Given the description of an element on the screen output the (x, y) to click on. 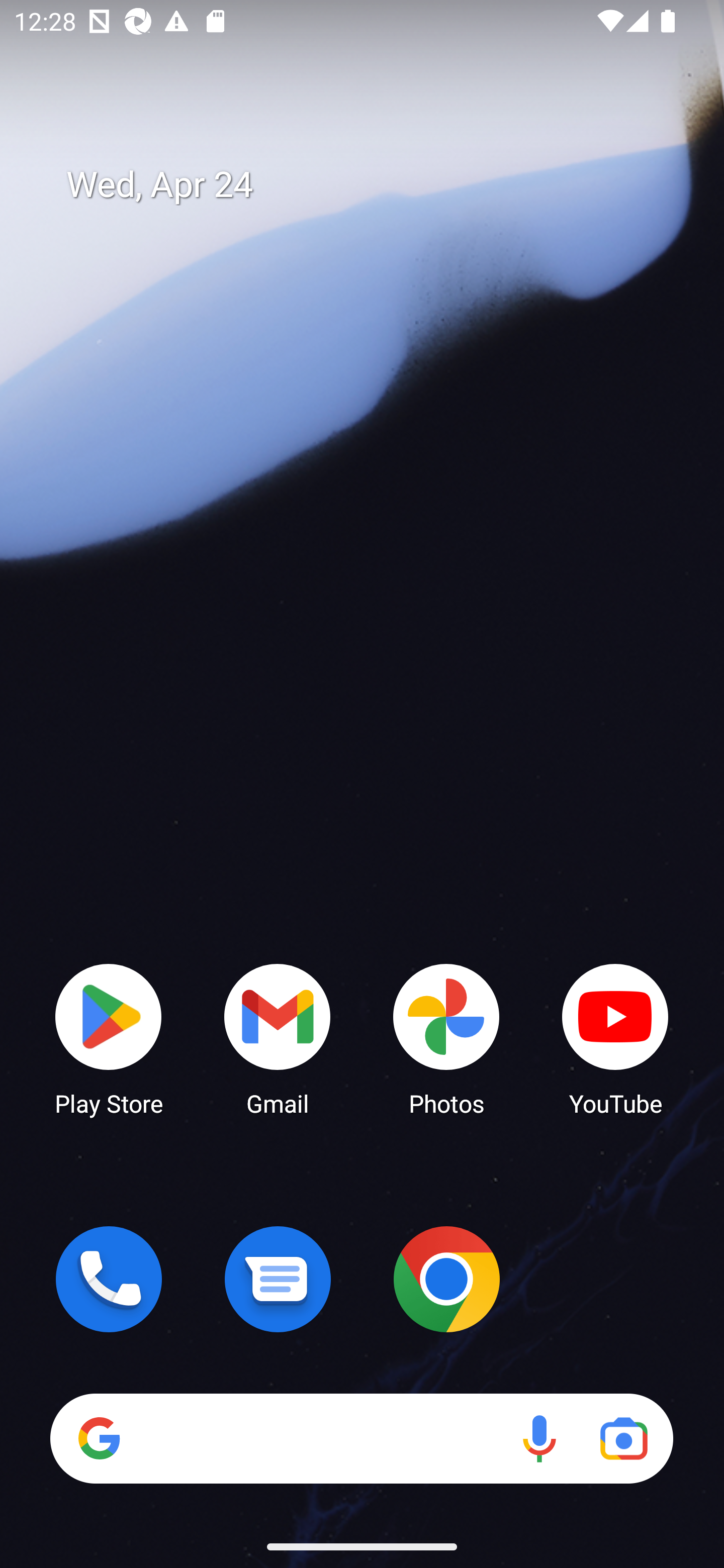
Wed, Apr 24 (375, 184)
Play Store (108, 1038)
Gmail (277, 1038)
Photos (445, 1038)
YouTube (615, 1038)
Phone (108, 1279)
Messages (277, 1279)
Chrome (446, 1279)
Search Voice search Google Lens (361, 1438)
Voice search (539, 1438)
Google Lens (623, 1438)
